Given the description of an element on the screen output the (x, y) to click on. 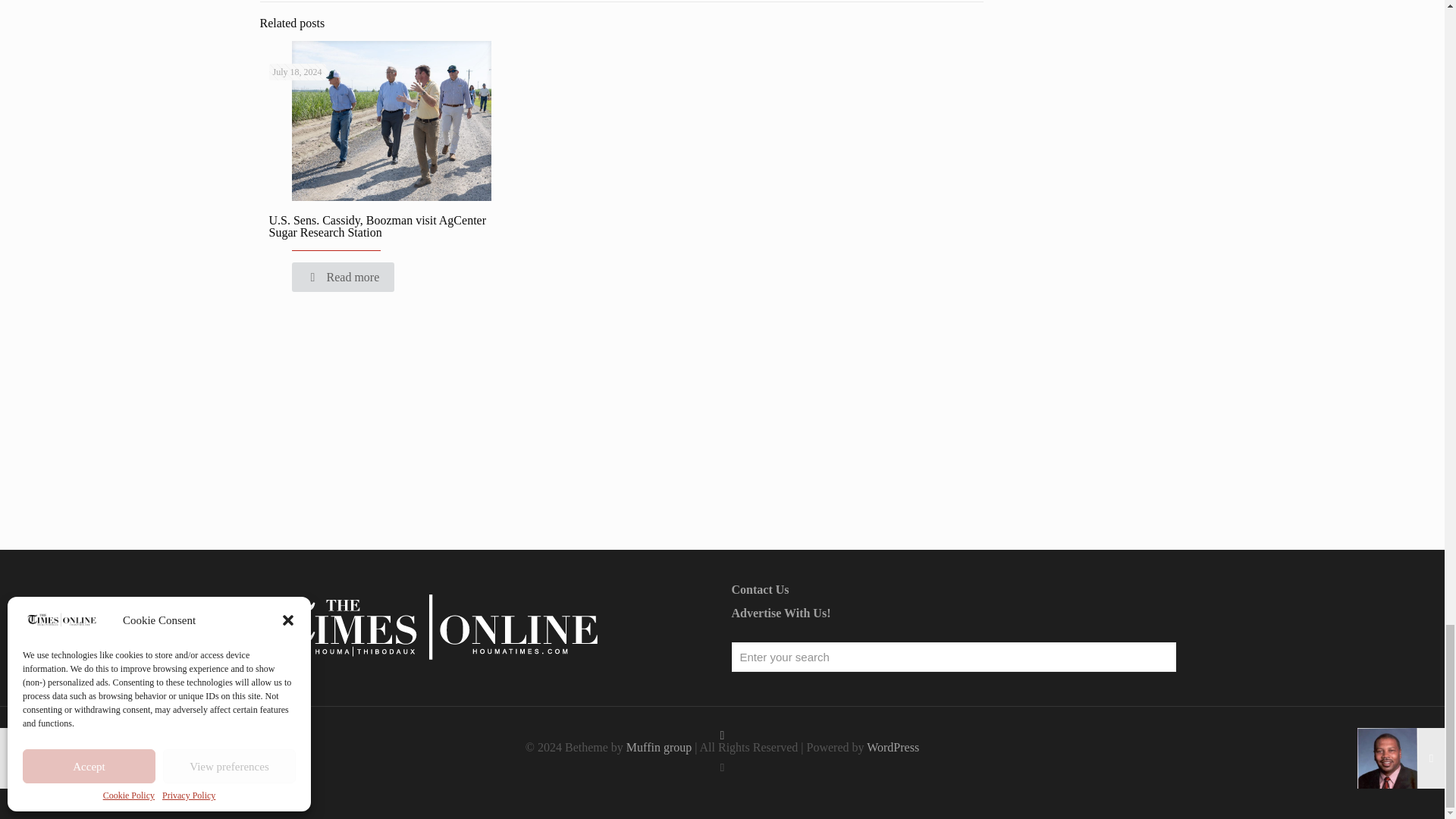
Facebook (722, 767)
